Given the description of an element on the screen output the (x, y) to click on. 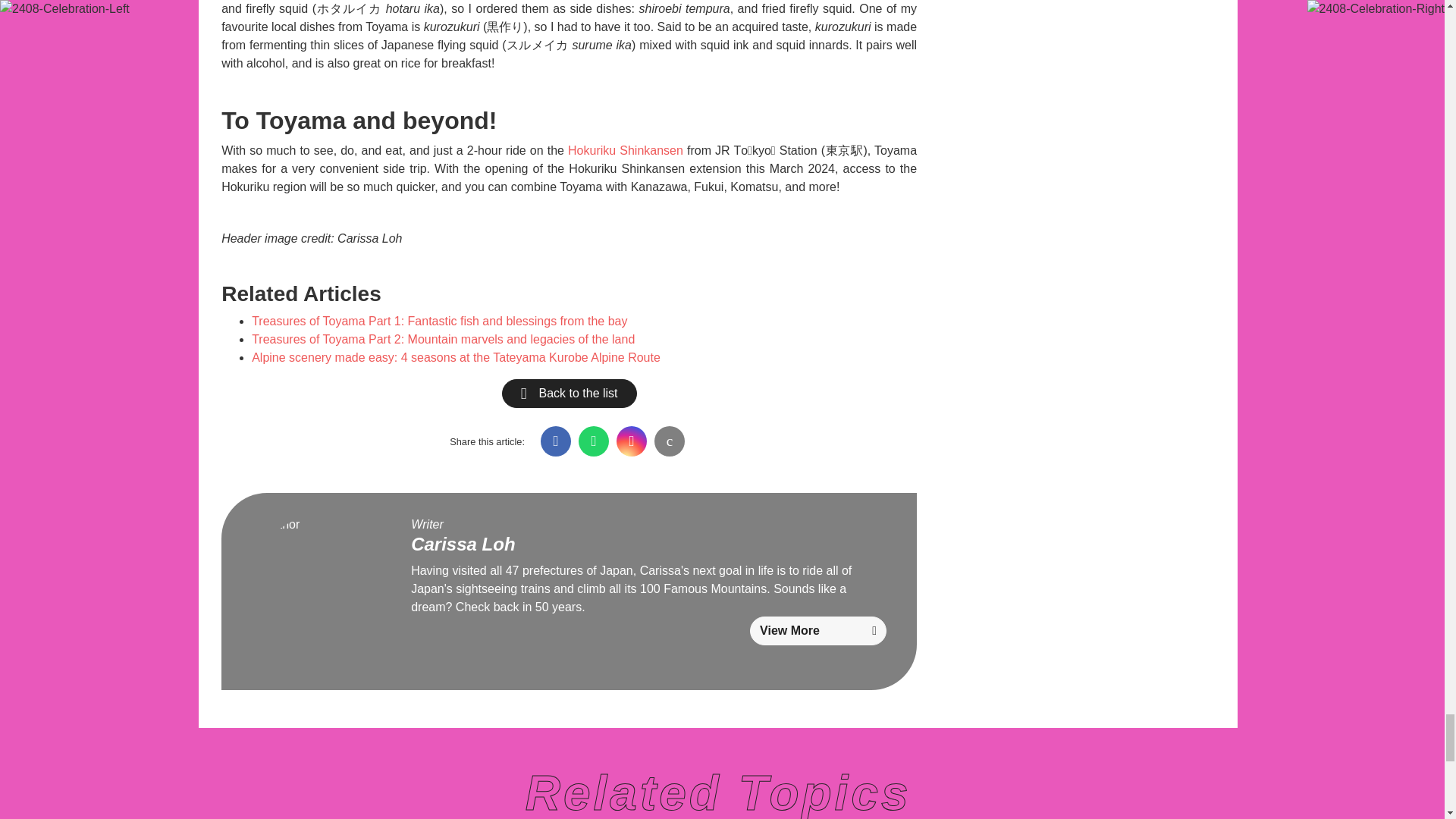
Hokuriku Shinkansen (624, 150)
